Given the description of an element on the screen output the (x, y) to click on. 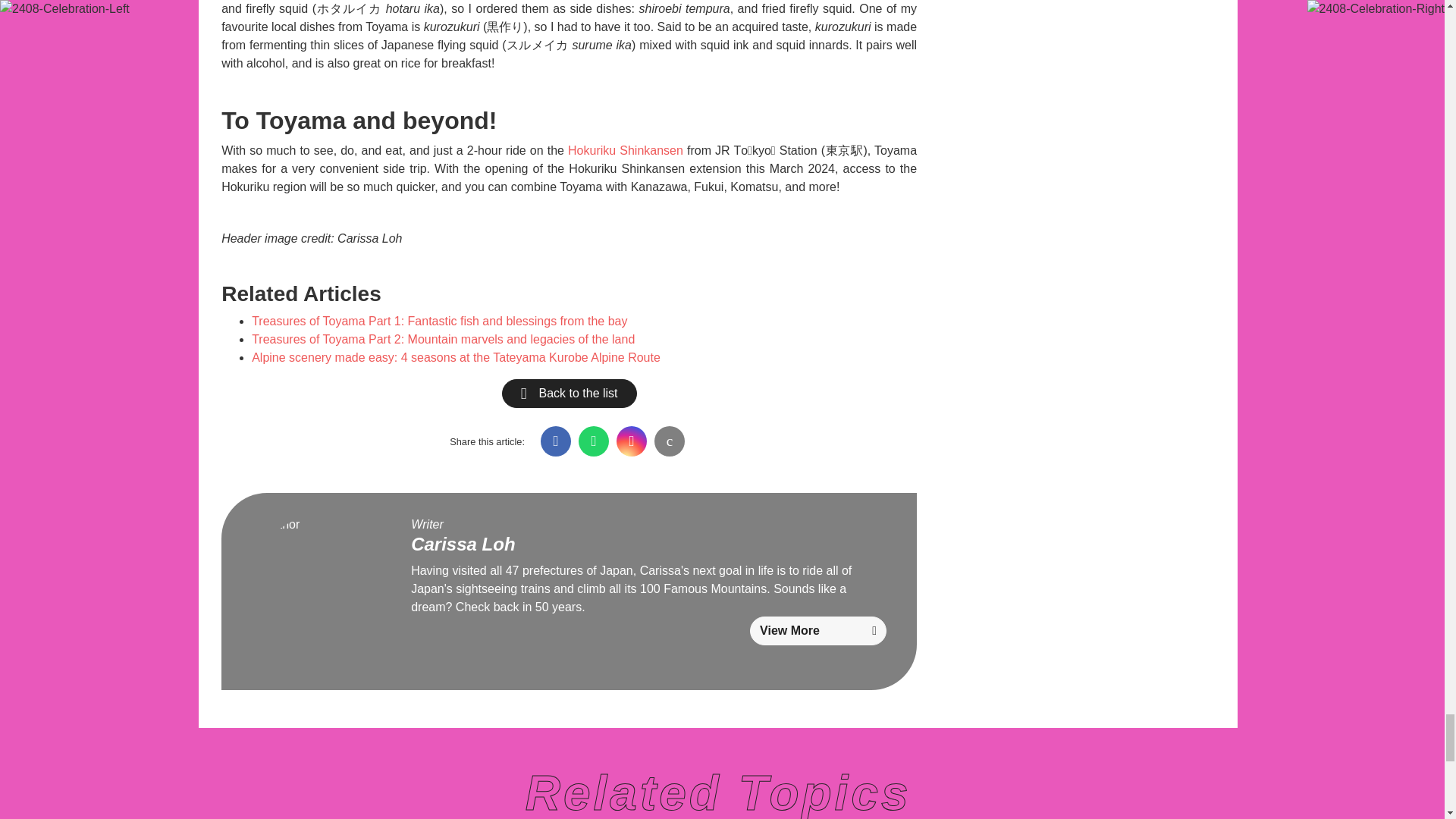
Hokuriku Shinkansen (624, 150)
